Given the description of an element on the screen output the (x, y) to click on. 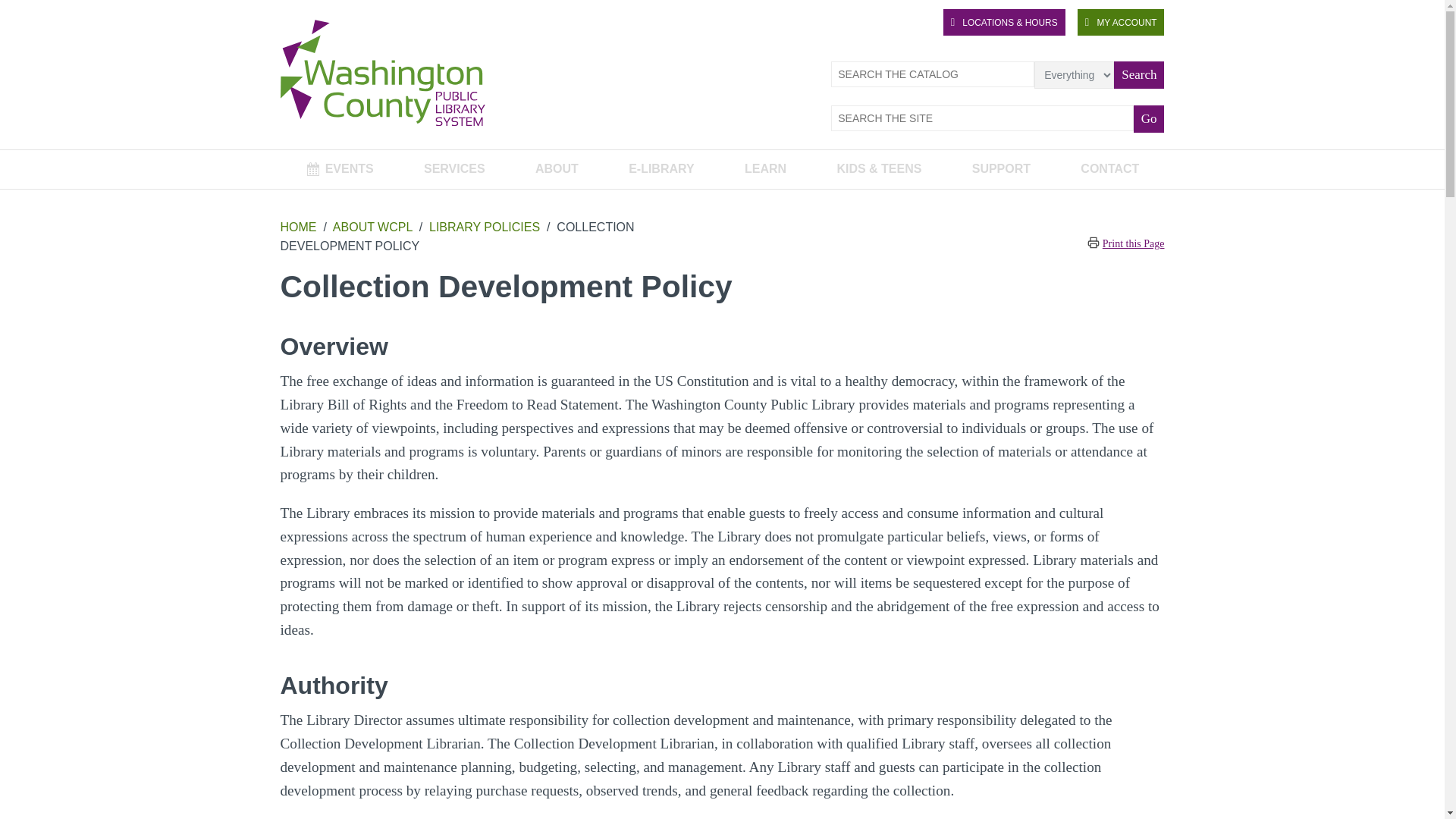
ABOUT (557, 169)
Search (1138, 74)
HOME (299, 226)
Go (1149, 118)
Go (1149, 118)
SERVICES (454, 169)
CONTACT (1109, 169)
EVENTS (339, 169)
MY ACCOUNT (1120, 22)
E-LIBRARY (661, 169)
Search (1138, 74)
SUPPORT (1002, 169)
LEARN (764, 169)
